Given the description of an element on the screen output the (x, y) to click on. 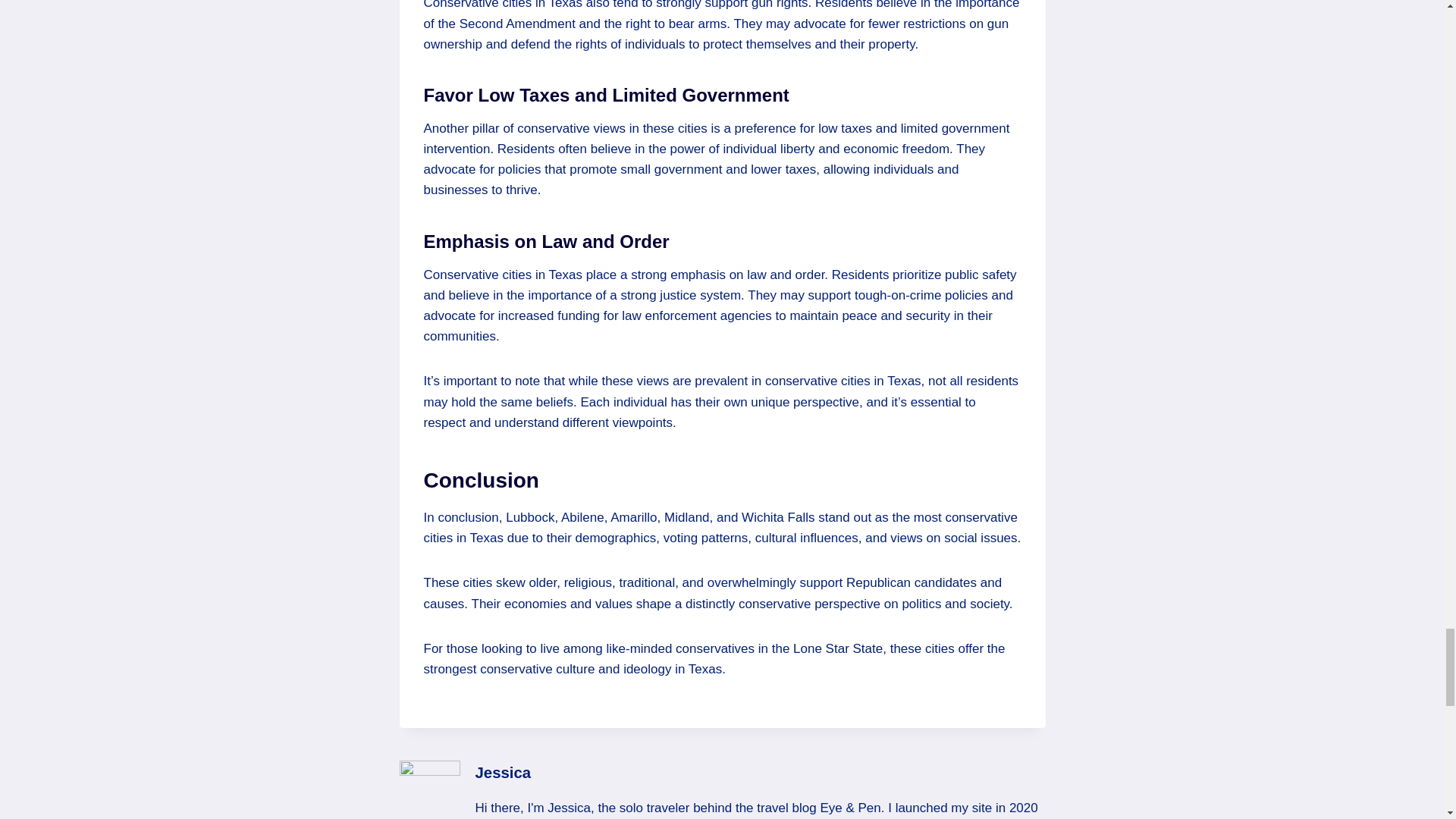
Jessica (502, 772)
Posts by Jessica (502, 772)
